Given the description of an element on the screen output the (x, y) to click on. 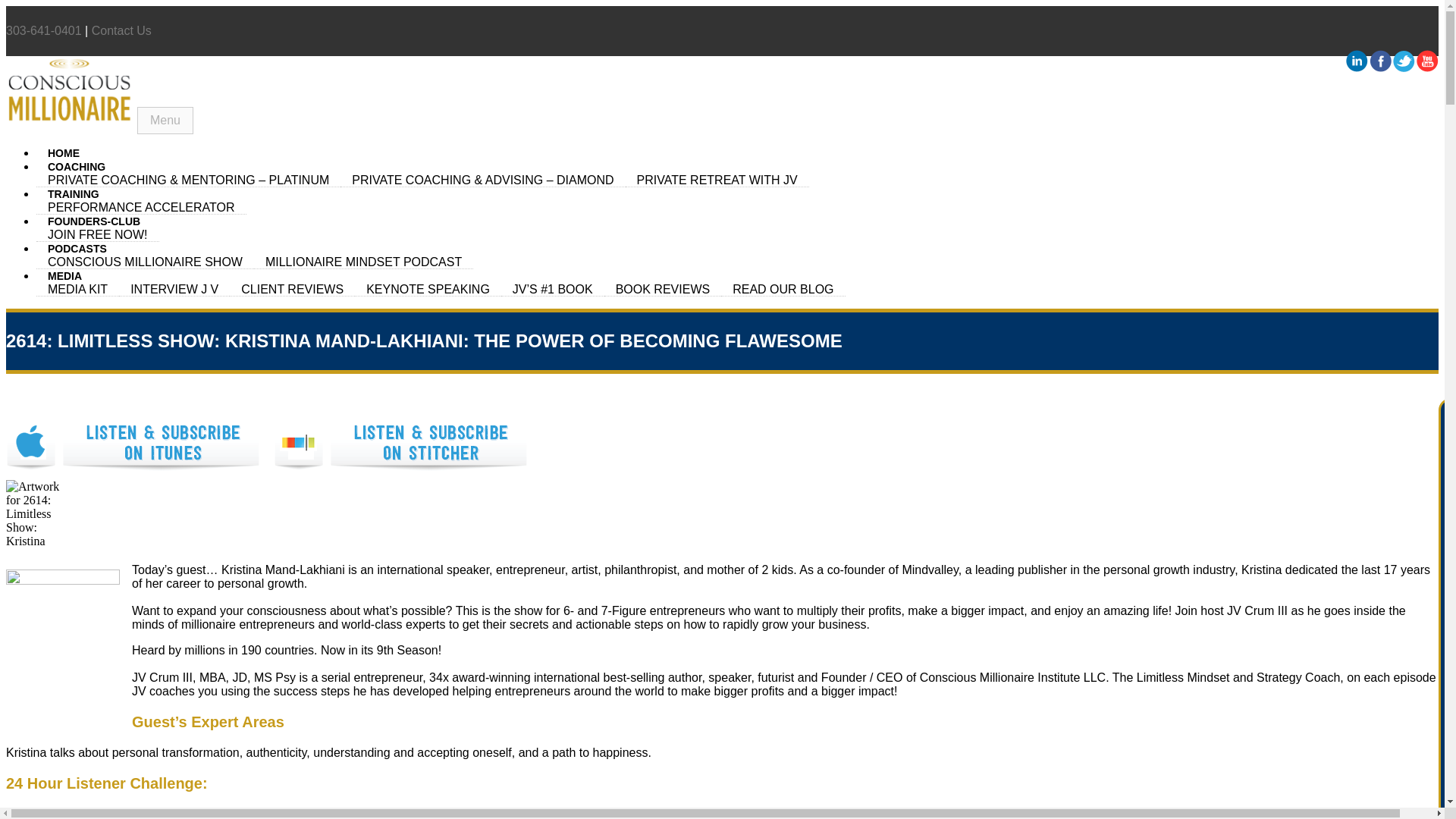
KEYNOTE SPEAKING (427, 289)
PRIVATE RETREAT WITH JV (717, 180)
Libsyn Player (721, 513)
INTERVIEW J V (174, 289)
Contact Us (121, 30)
COACHING (76, 166)
303-641-0401 (43, 30)
TRAINING (73, 194)
READ OUR BLOG (782, 289)
CLIENT REVIEWS (292, 289)
